Given the description of an element on the screen output the (x, y) to click on. 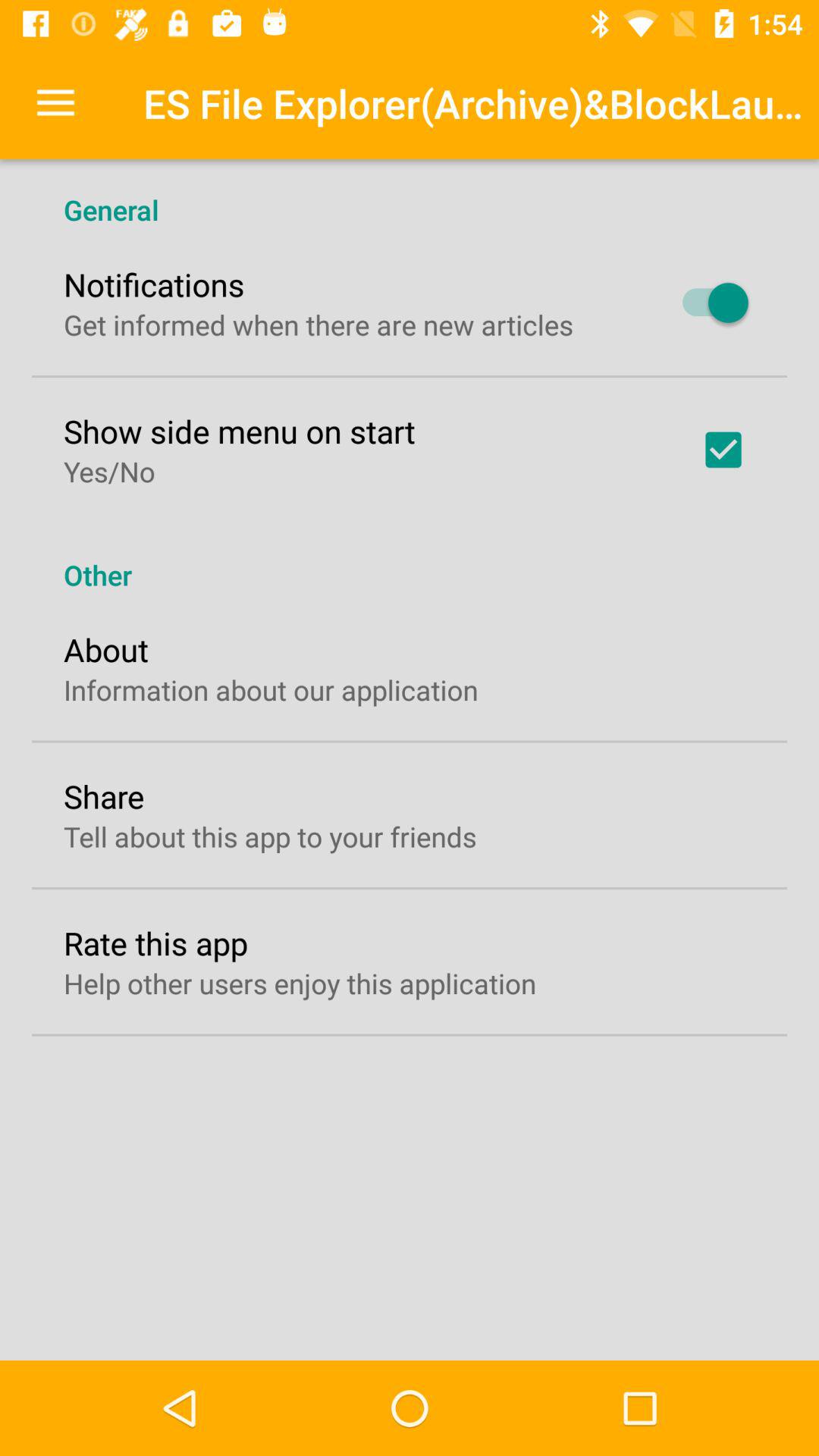
click the show side menu item (239, 430)
